Given the description of an element on the screen output the (x, y) to click on. 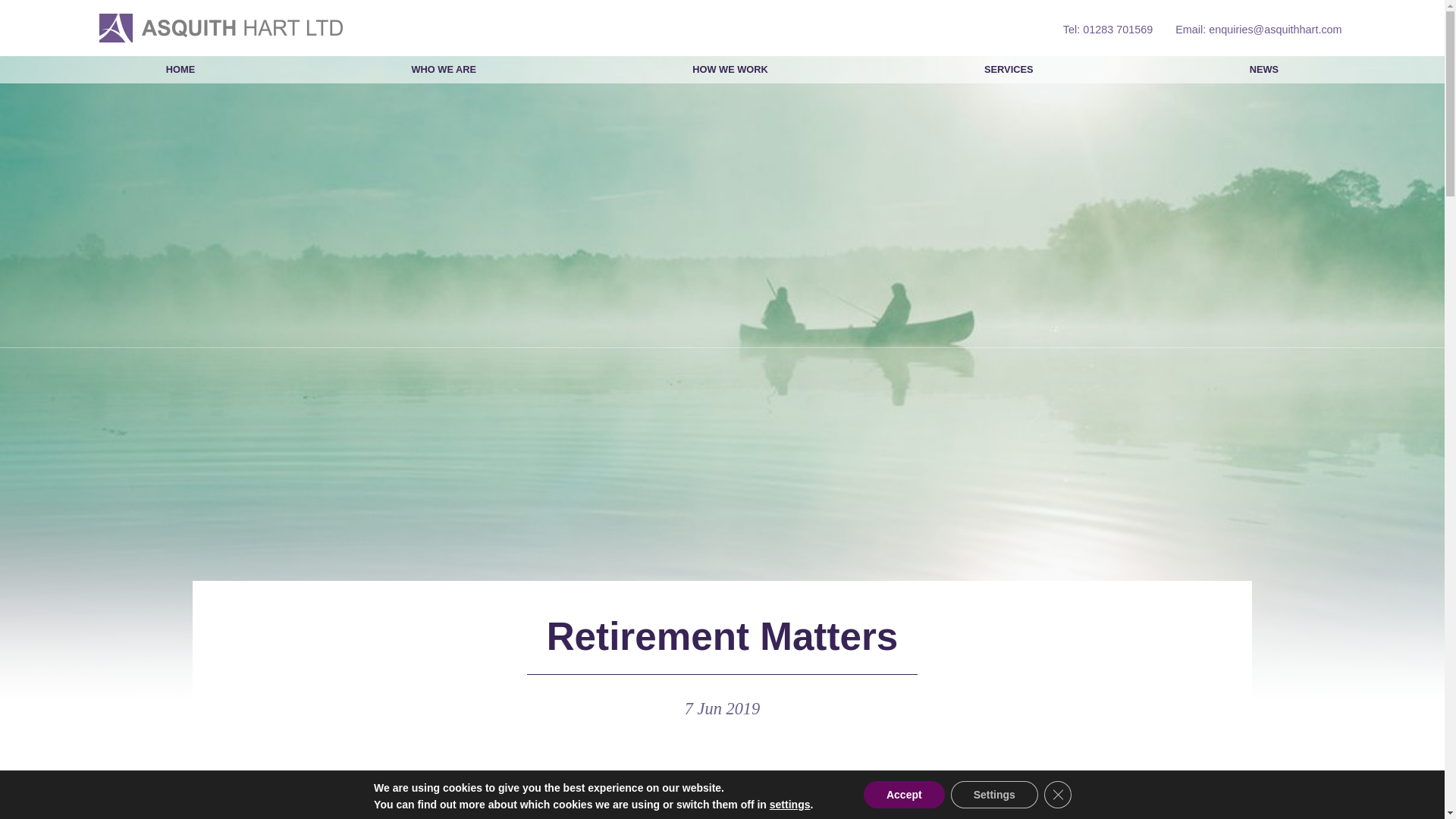
settings (790, 804)
HOW WE WORK (730, 69)
NEWS (1264, 69)
ASQUITH HART (220, 28)
WHO WE ARE (443, 69)
HOME (180, 69)
SERVICES (1008, 69)
